Given the description of an element on the screen output the (x, y) to click on. 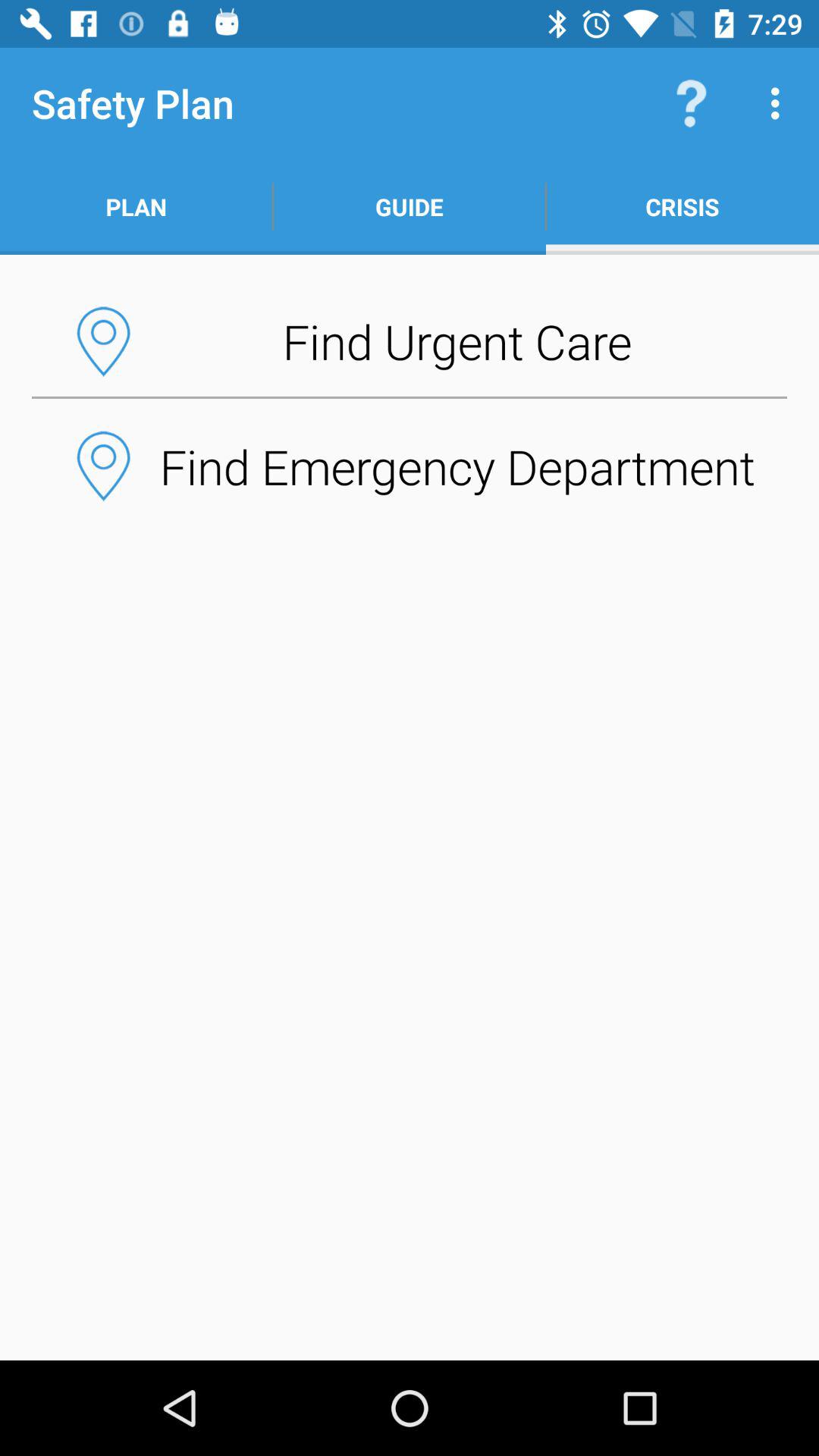
scroll to the find urgent care item (409, 341)
